Given the description of an element on the screen output the (x, y) to click on. 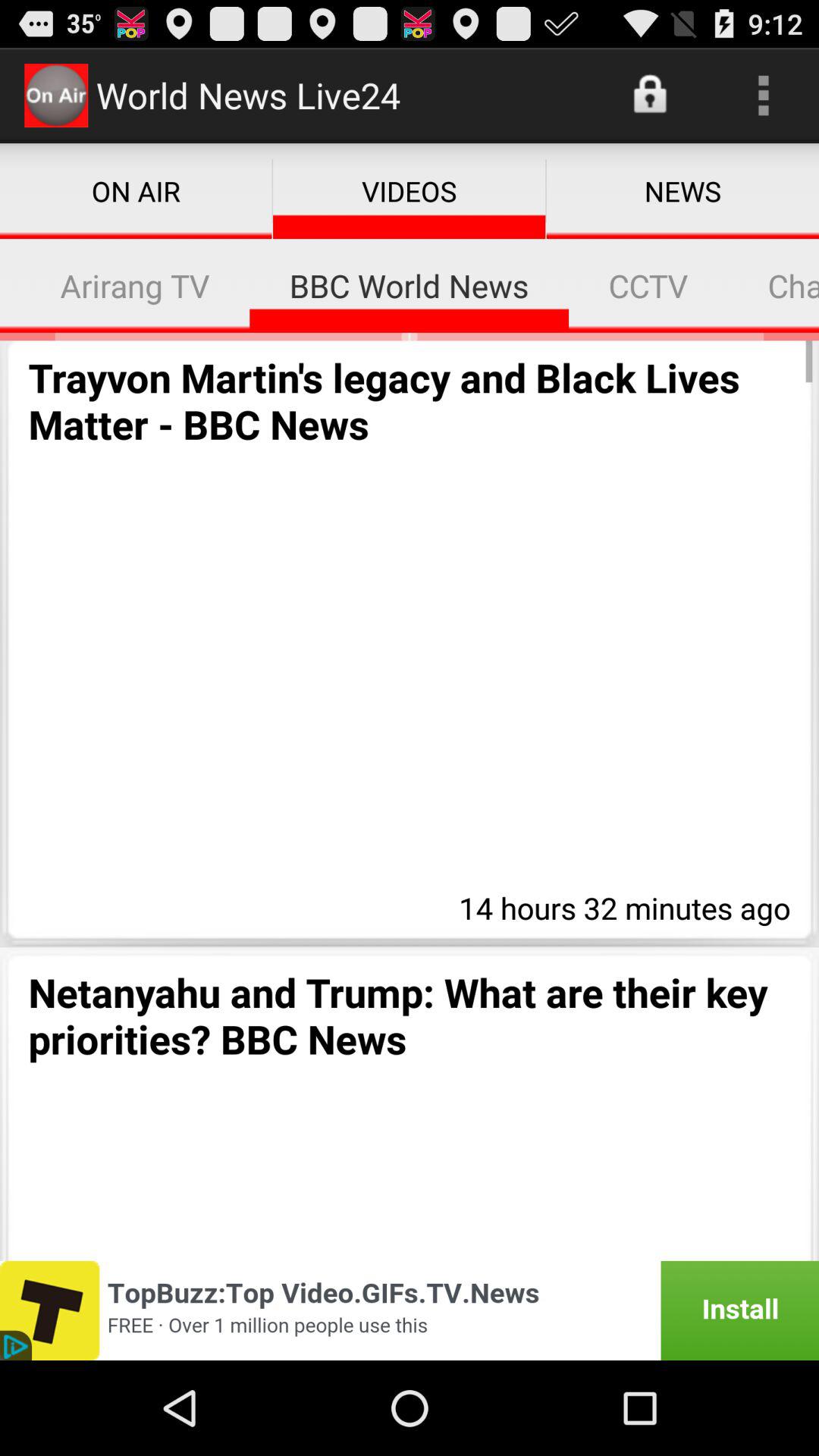
install advertisement (409, 1310)
